Given the description of an element on the screen output the (x, y) to click on. 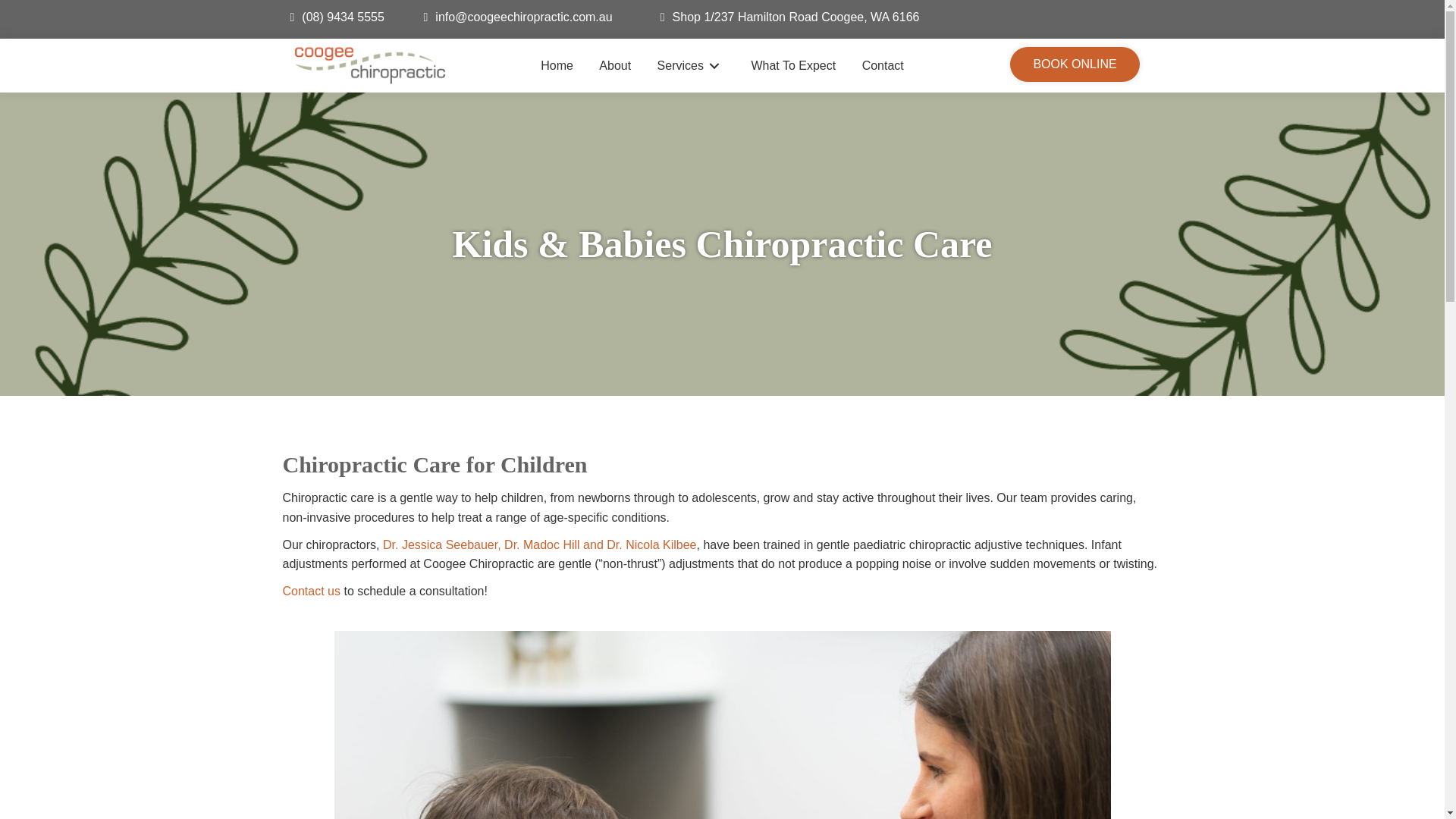
What To Expect (792, 65)
Services (690, 65)
About (615, 65)
Home (556, 65)
Contact (882, 65)
BOOK ONLINE (1074, 63)
Dr. Jessica Seebauer, Dr. Madoc Hill and Dr. Nicola Kilbee (539, 544)
Contact us (310, 590)
